Given the description of an element on the screen output the (x, y) to click on. 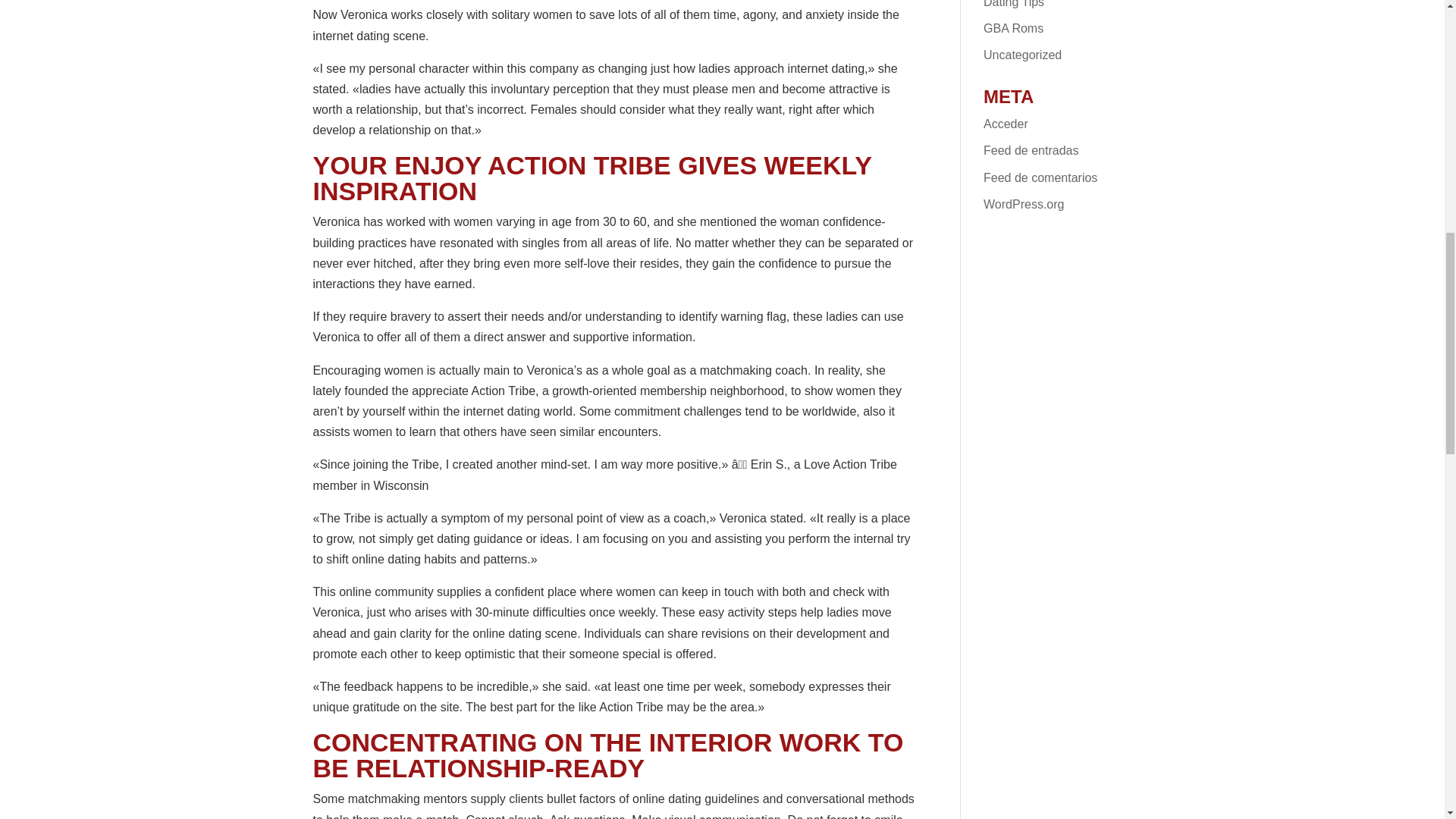
GBA Roms (1013, 28)
Uncategorized (1022, 54)
Acceder (1005, 123)
Dating Tips (1013, 4)
WordPress.org (1024, 204)
Feed de entradas (1031, 150)
Feed de comentarios (1040, 177)
